Given the description of an element on the screen output the (x, y) to click on. 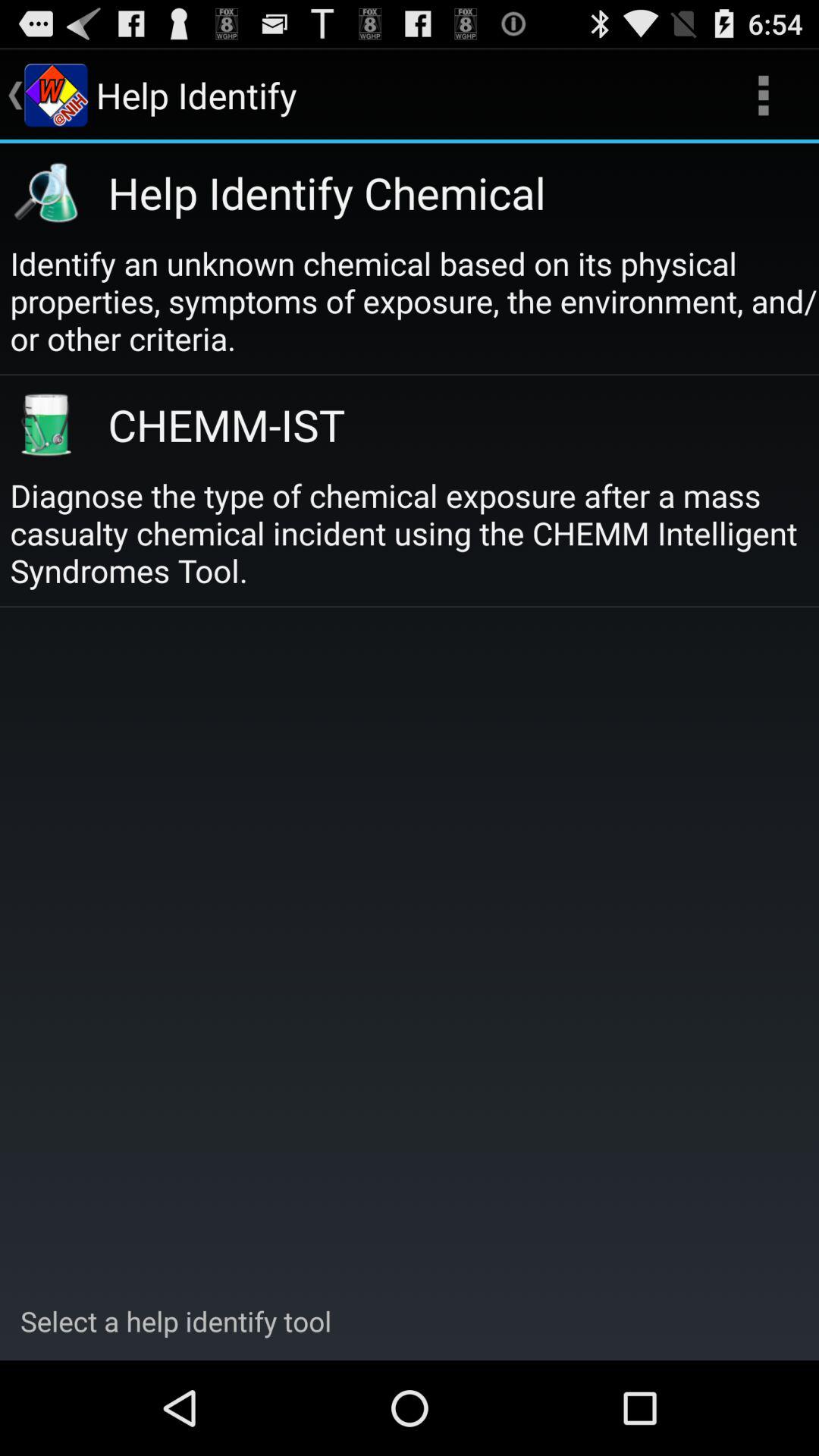
turn on the item at the top right corner (763, 95)
